Given the description of an element on the screen output the (x, y) to click on. 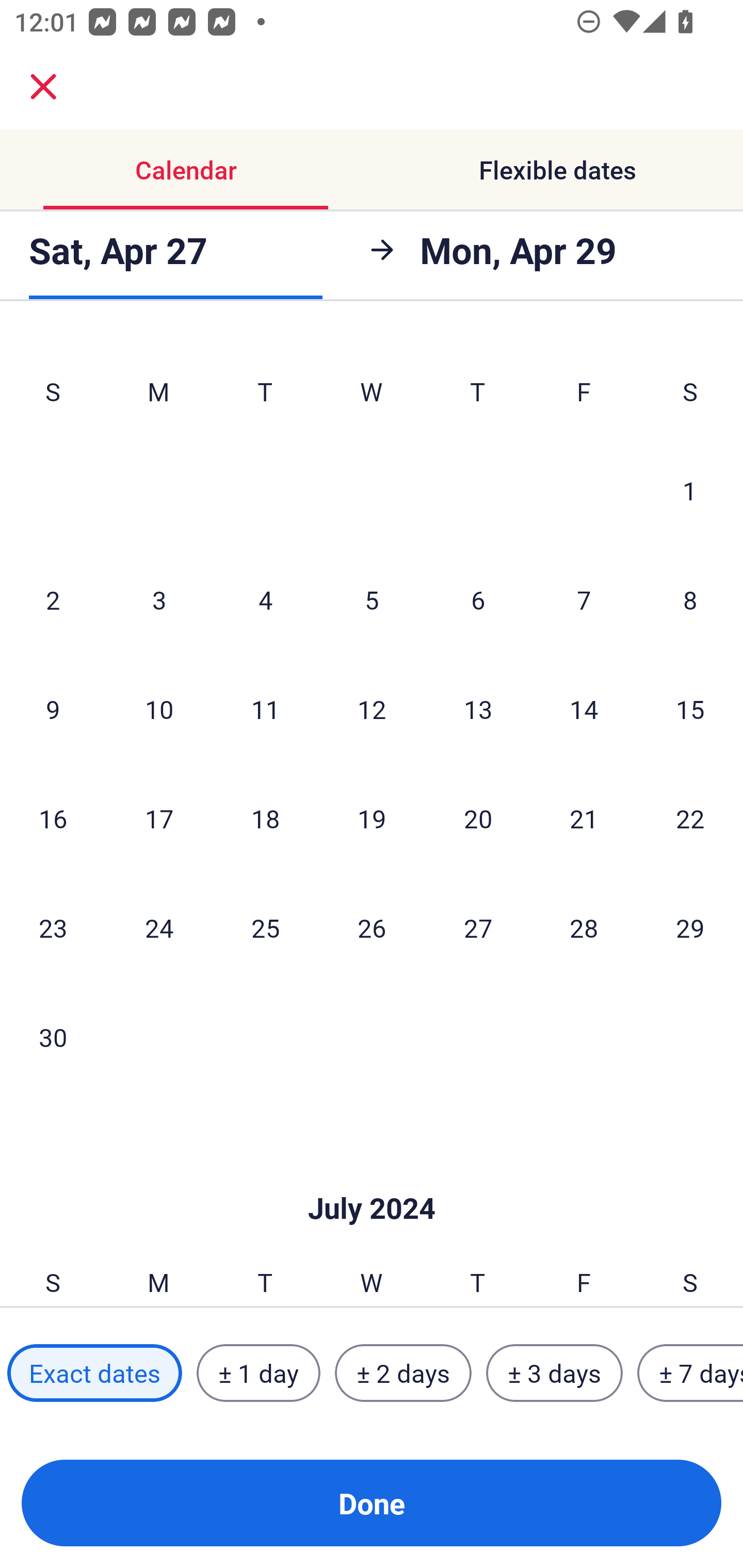
close. (43, 86)
Flexible dates (557, 170)
1 Saturday, June 1, 2024 (689, 489)
2 Sunday, June 2, 2024 (53, 599)
3 Monday, June 3, 2024 (159, 599)
4 Tuesday, June 4, 2024 (265, 599)
5 Wednesday, June 5, 2024 (371, 599)
6 Thursday, June 6, 2024 (477, 599)
7 Friday, June 7, 2024 (584, 599)
8 Saturday, June 8, 2024 (690, 599)
9 Sunday, June 9, 2024 (53, 708)
10 Monday, June 10, 2024 (159, 708)
11 Tuesday, June 11, 2024 (265, 708)
12 Wednesday, June 12, 2024 (371, 708)
13 Thursday, June 13, 2024 (477, 708)
14 Friday, June 14, 2024 (584, 708)
15 Saturday, June 15, 2024 (690, 708)
16 Sunday, June 16, 2024 (53, 818)
17 Monday, June 17, 2024 (159, 818)
18 Tuesday, June 18, 2024 (265, 818)
19 Wednesday, June 19, 2024 (371, 818)
20 Thursday, June 20, 2024 (477, 818)
21 Friday, June 21, 2024 (584, 818)
22 Saturday, June 22, 2024 (690, 818)
23 Sunday, June 23, 2024 (53, 927)
24 Monday, June 24, 2024 (159, 927)
25 Tuesday, June 25, 2024 (265, 927)
26 Wednesday, June 26, 2024 (371, 927)
27 Thursday, June 27, 2024 (477, 927)
28 Friday, June 28, 2024 (584, 927)
29 Saturday, June 29, 2024 (690, 927)
30 Sunday, June 30, 2024 (53, 1036)
Skip to Done (371, 1177)
Exact dates (94, 1372)
± 1 day (258, 1372)
± 2 days (403, 1372)
± 3 days (553, 1372)
± 7 days (690, 1372)
Done (371, 1502)
